Given the description of an element on the screen output the (x, y) to click on. 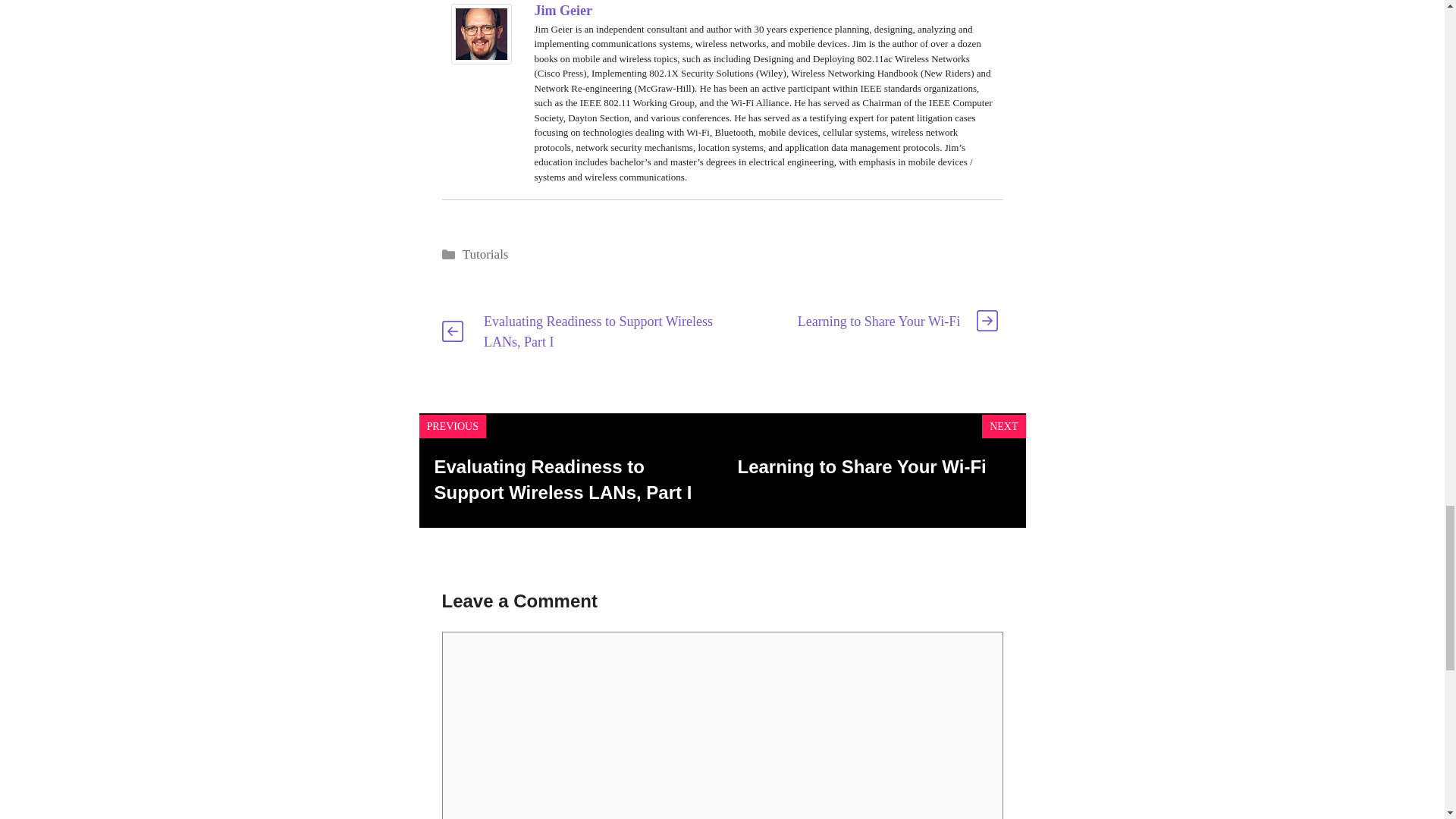
Learning to Share Your Wi-Fi (878, 321)
Tutorials (485, 254)
Learning to Share Your Wi-Fi (860, 466)
Jim Geier (480, 58)
Jim Geier (562, 10)
Evaluating Readiness to Support Wireless LANs, Part I (598, 331)
Evaluating Readiness to Support Wireless LANs, Part I (562, 479)
